Given the description of an element on the screen output the (x, y) to click on. 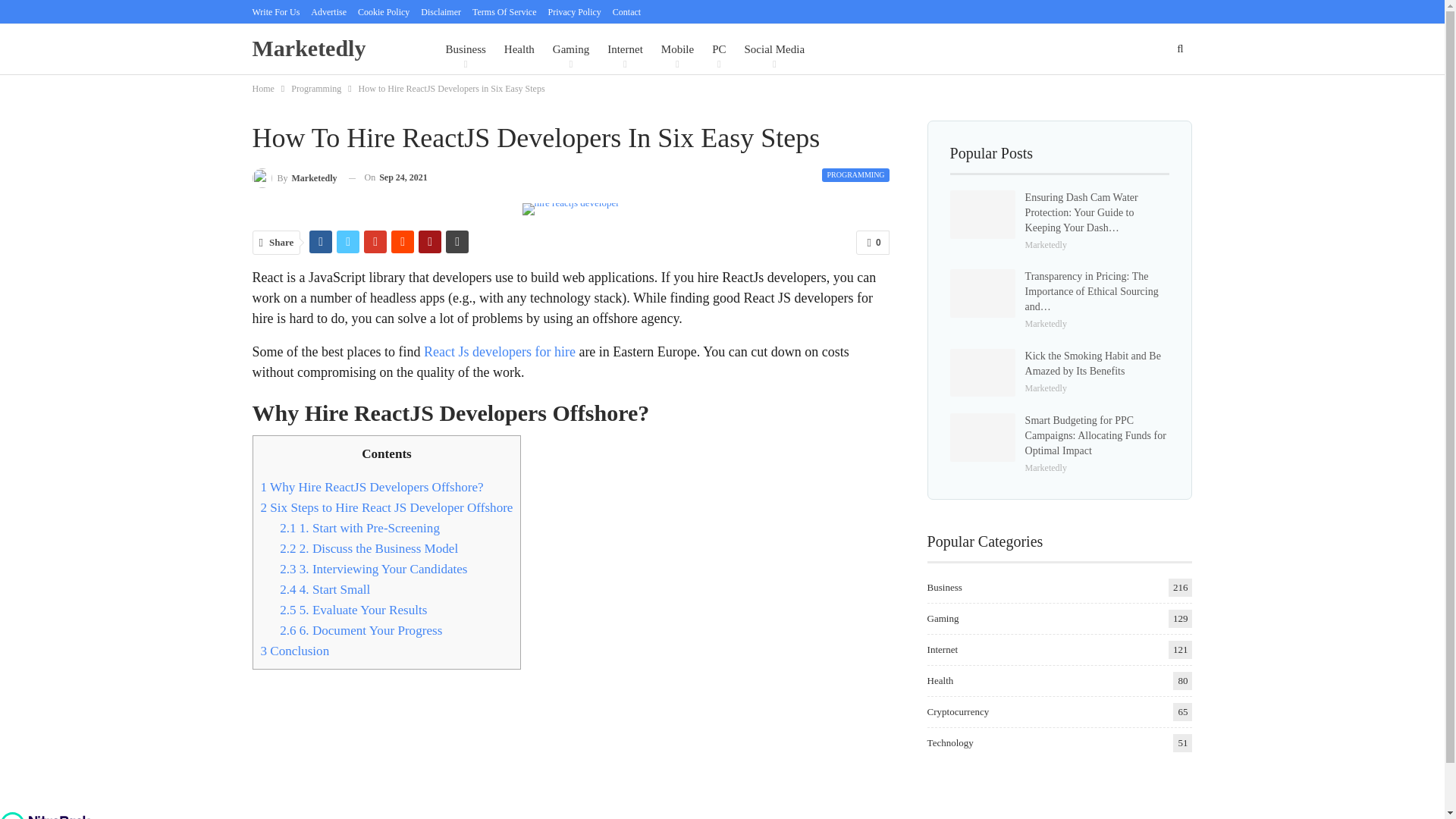
Cookie Policy (383, 11)
Write For Us (275, 11)
Disclaimer (440, 11)
Social Media (773, 49)
Privacy Policy (573, 11)
Business (464, 49)
Health (519, 49)
PC (718, 49)
Internet (624, 49)
Terms Of Service (503, 11)
Gaming (570, 49)
Marketedly (311, 47)
Advertise (328, 11)
Contact (626, 11)
Mobile (677, 49)
